Given the description of an element on the screen output the (x, y) to click on. 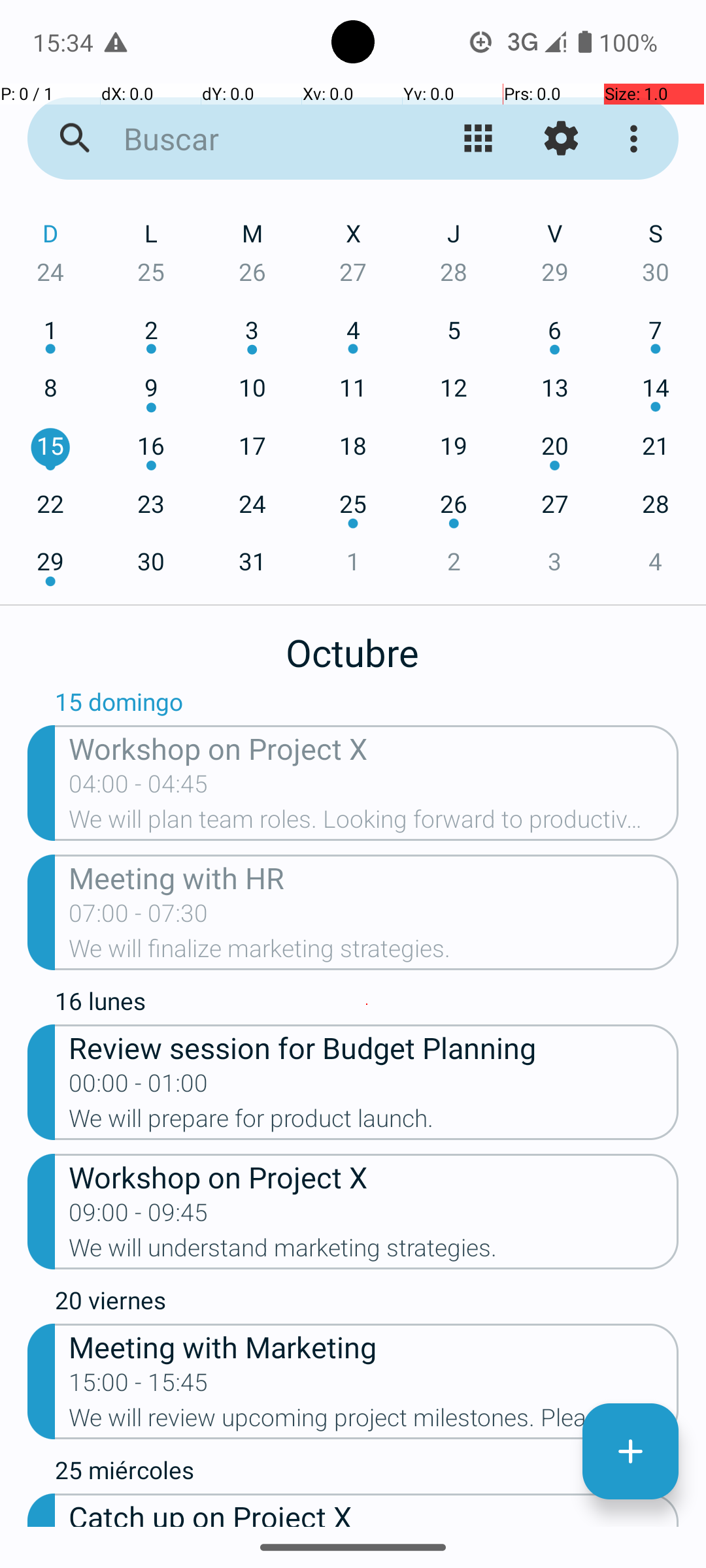
15 domingo Element type: android.widget.TextView (366, 704)
16 lunes Element type: android.widget.TextView (366, 1003)
20 viernes Element type: android.widget.TextView (366, 1303)
25 miércoles Element type: android.widget.TextView (366, 1473)
Workshop on Project X Element type: android.widget.TextView (373, 747)
04:00 - 04:45 Element type: android.widget.TextView (137, 787)
We will plan team roles. Looking forward to productive discussions. Element type: android.widget.TextView (373, 822)
Meeting with HR Element type: android.widget.TextView (373, 876)
07:00 - 07:30 Element type: android.widget.TextView (137, 916)
We will finalize marketing strategies. Element type: android.widget.TextView (373, 952)
Review session for Budget Planning Element type: android.widget.TextView (373, 1046)
00:00 - 01:00 Element type: android.widget.TextView (137, 1086)
We will prepare for product launch. Element type: android.widget.TextView (373, 1122)
09:00 - 09:45 Element type: android.widget.TextView (137, 1216)
We will understand marketing strategies. Element type: android.widget.TextView (373, 1251)
Meeting with Marketing Element type: android.widget.TextView (373, 1345)
15:00 - 15:45 Element type: android.widget.TextView (137, 1386)
We will review upcoming project milestones. Please bring relevant documents. Element type: android.widget.TextView (373, 1421)
Catch up on Project X Element type: android.widget.TextView (373, 1509)
